Given the description of an element on the screen output the (x, y) to click on. 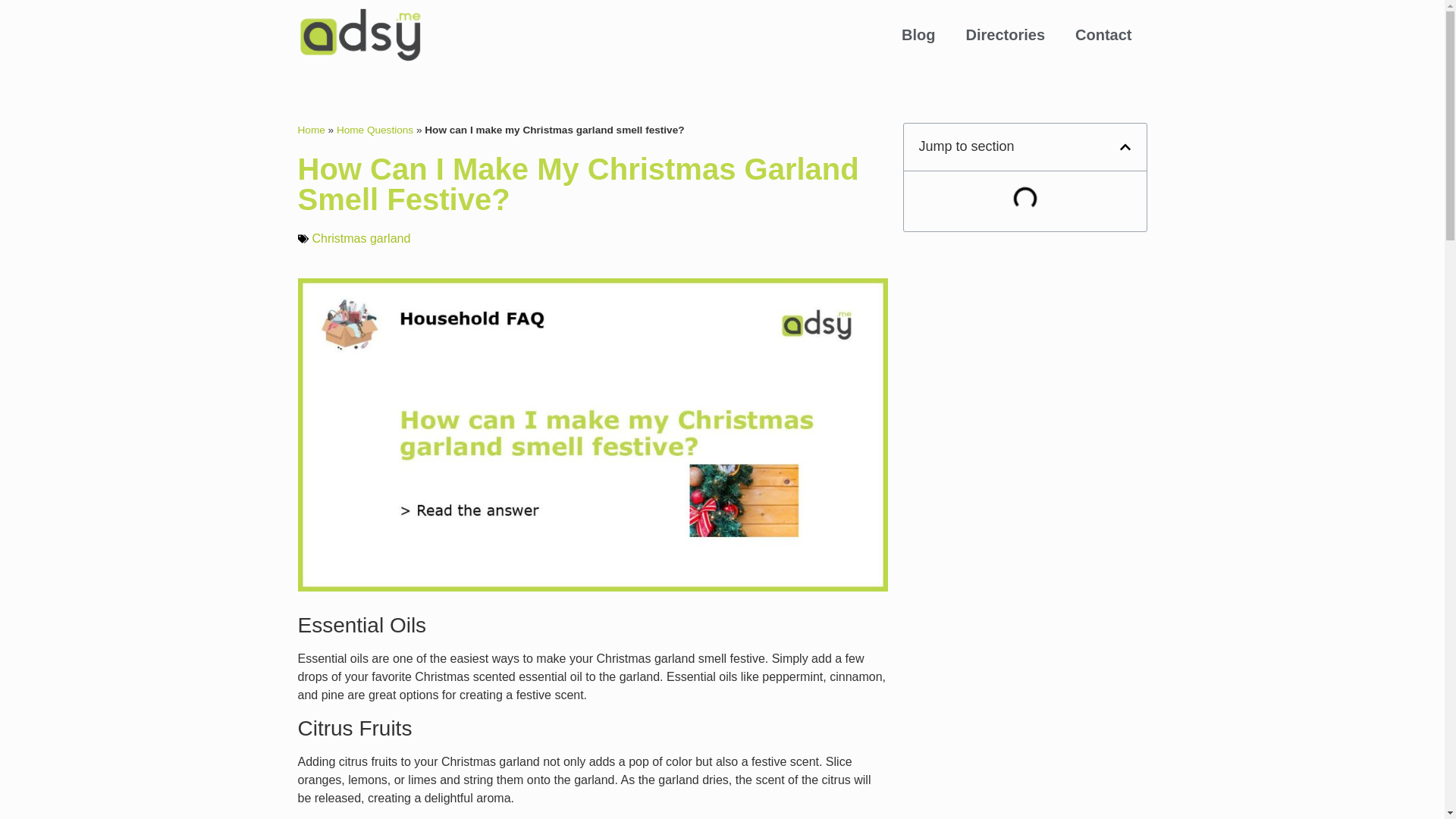
Blog (918, 34)
Directories (1005, 34)
Contact (1103, 34)
